Given the description of an element on the screen output the (x, y) to click on. 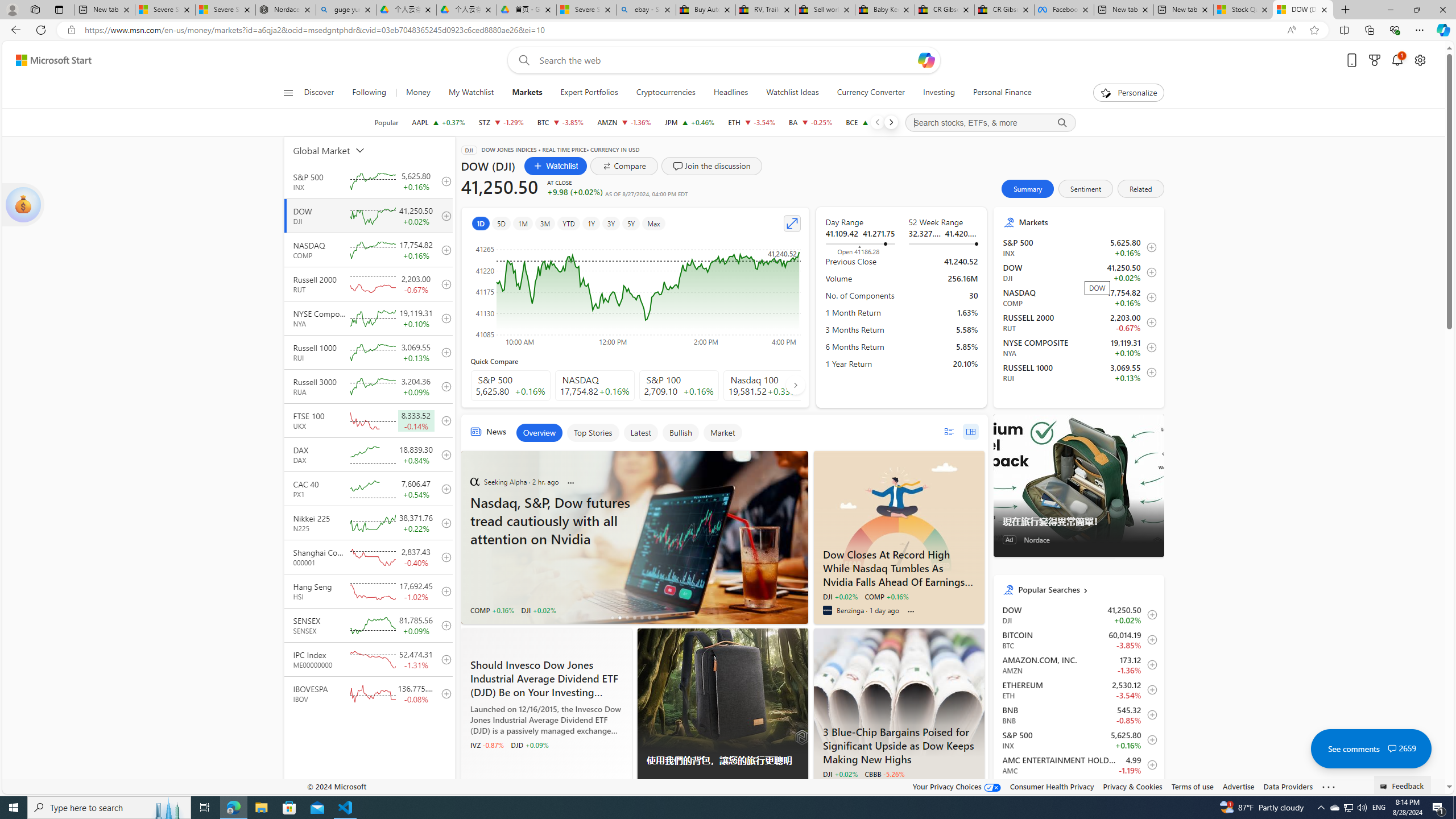
AutomationID: finance_carousel_navi_right (794, 384)
5D (501, 223)
Investing (939, 92)
Headlines (730, 92)
Sentiment (1085, 188)
Currency Converter (870, 92)
Benzinga (826, 610)
Class: cwt-icon-vector (1391, 748)
